Given the description of an element on the screen output the (x, y) to click on. 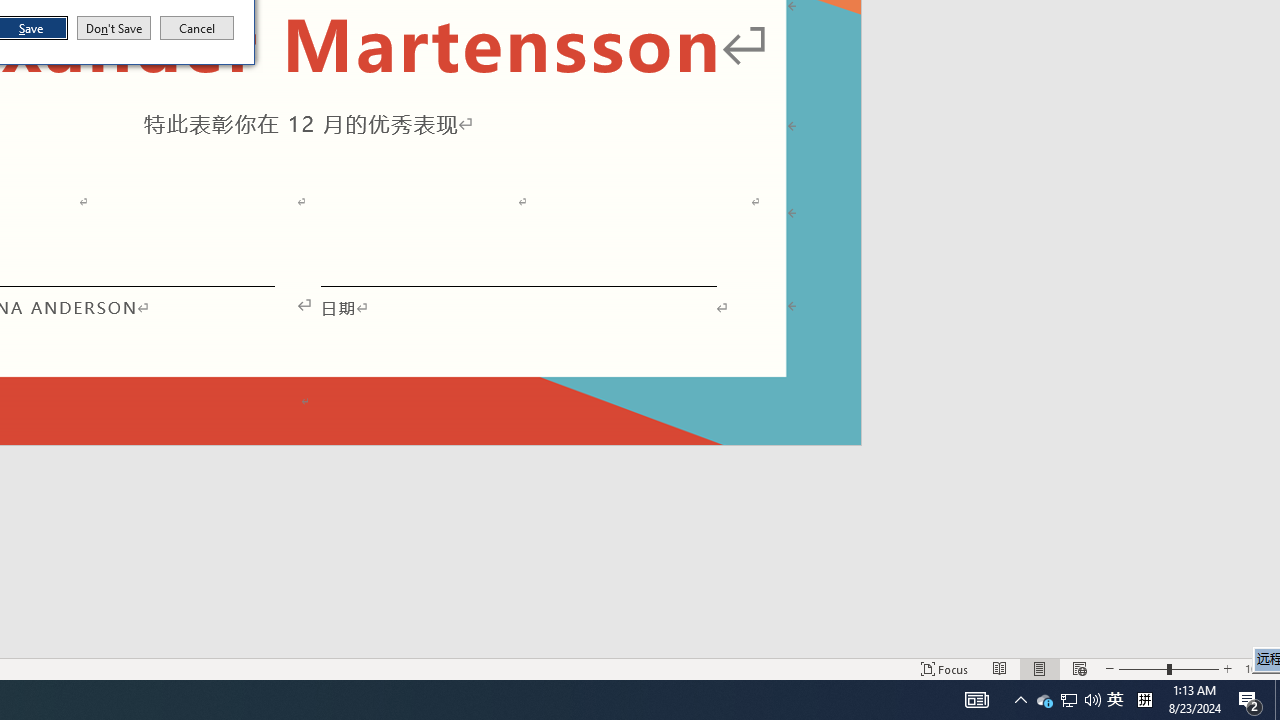
Cancel (197, 27)
Don't Save (113, 27)
